Given the description of an element on the screen output the (x, y) to click on. 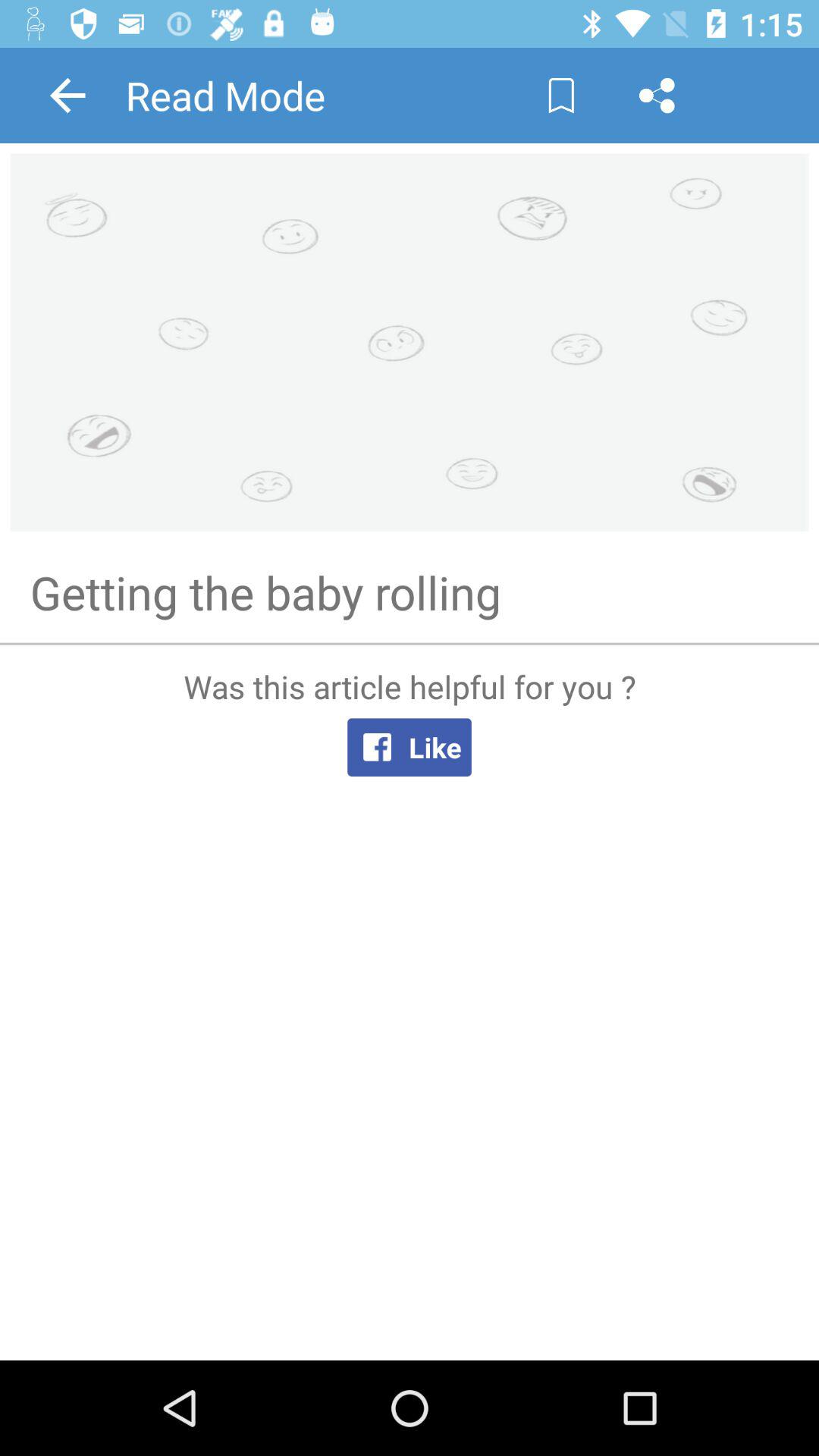
facebook like link button and text (409, 1001)
